Given the description of an element on the screen output the (x, y) to click on. 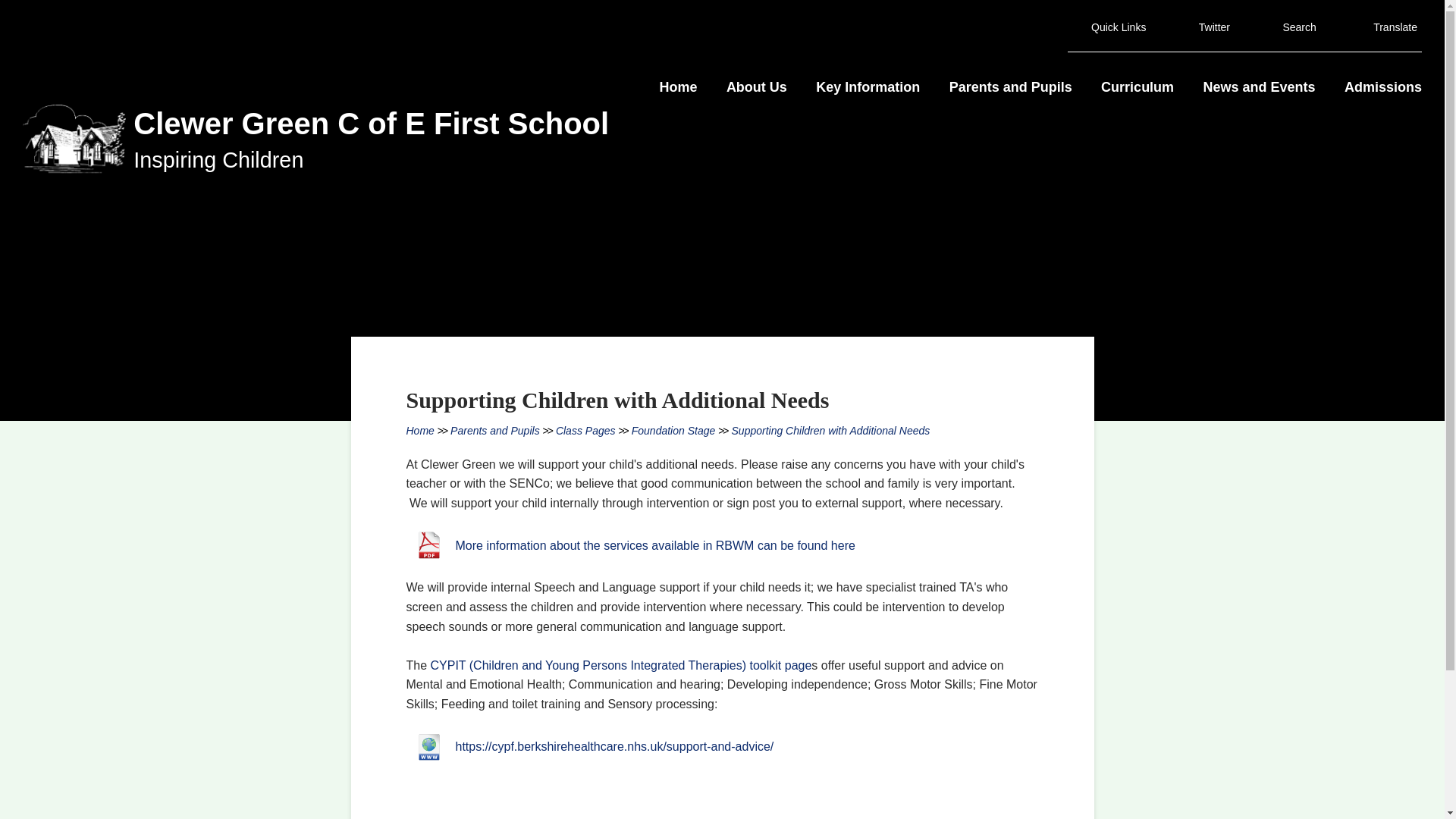
Search (1289, 27)
Home Page (74, 138)
Translate (1385, 27)
Quick Links (1108, 27)
Key Information (867, 88)
About Us (756, 88)
Twitter (1204, 27)
Home (678, 88)
